Given the description of an element on the screen output the (x, y) to click on. 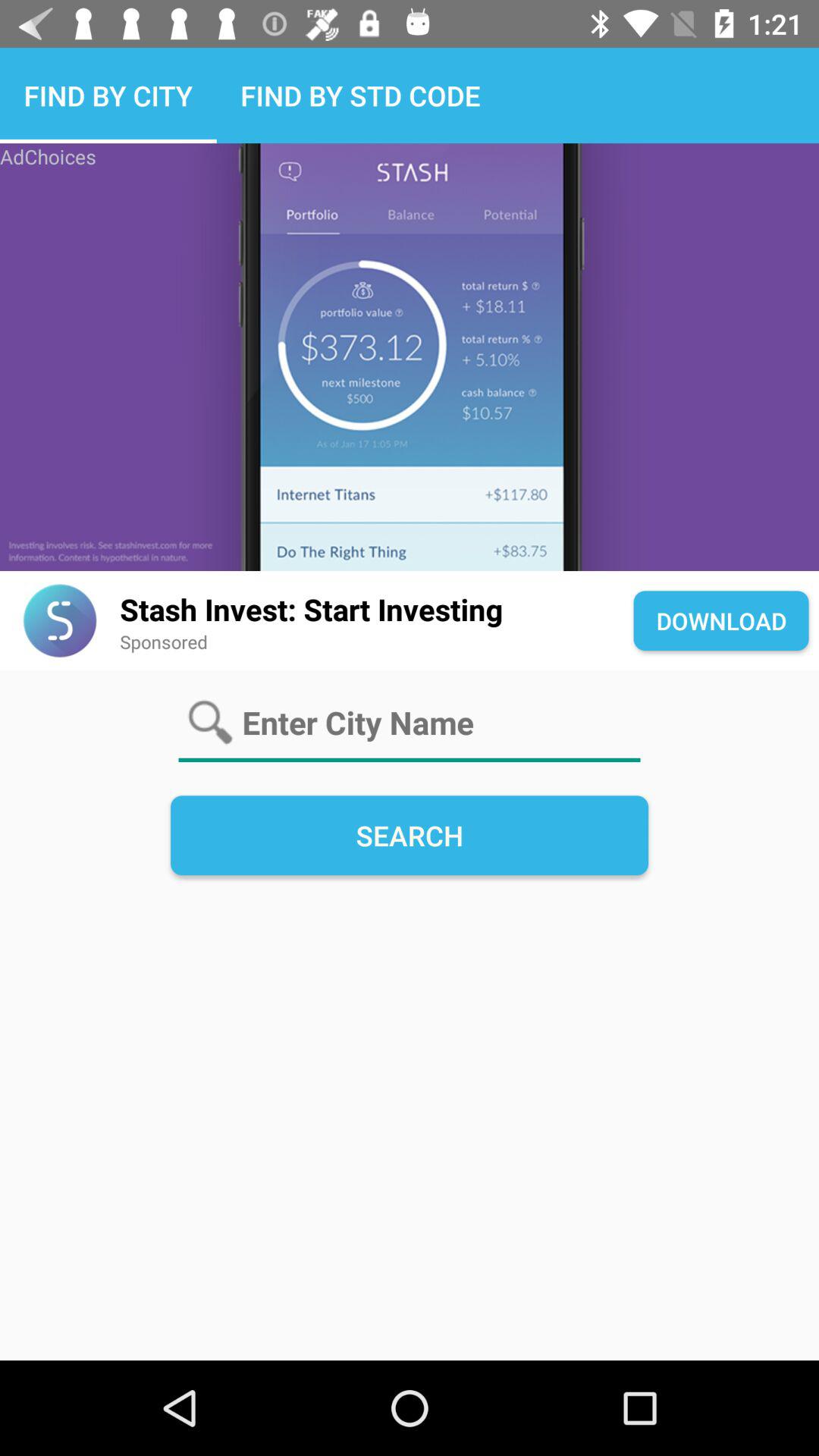
enter city (409, 722)
